Given the description of an element on the screen output the (x, y) to click on. 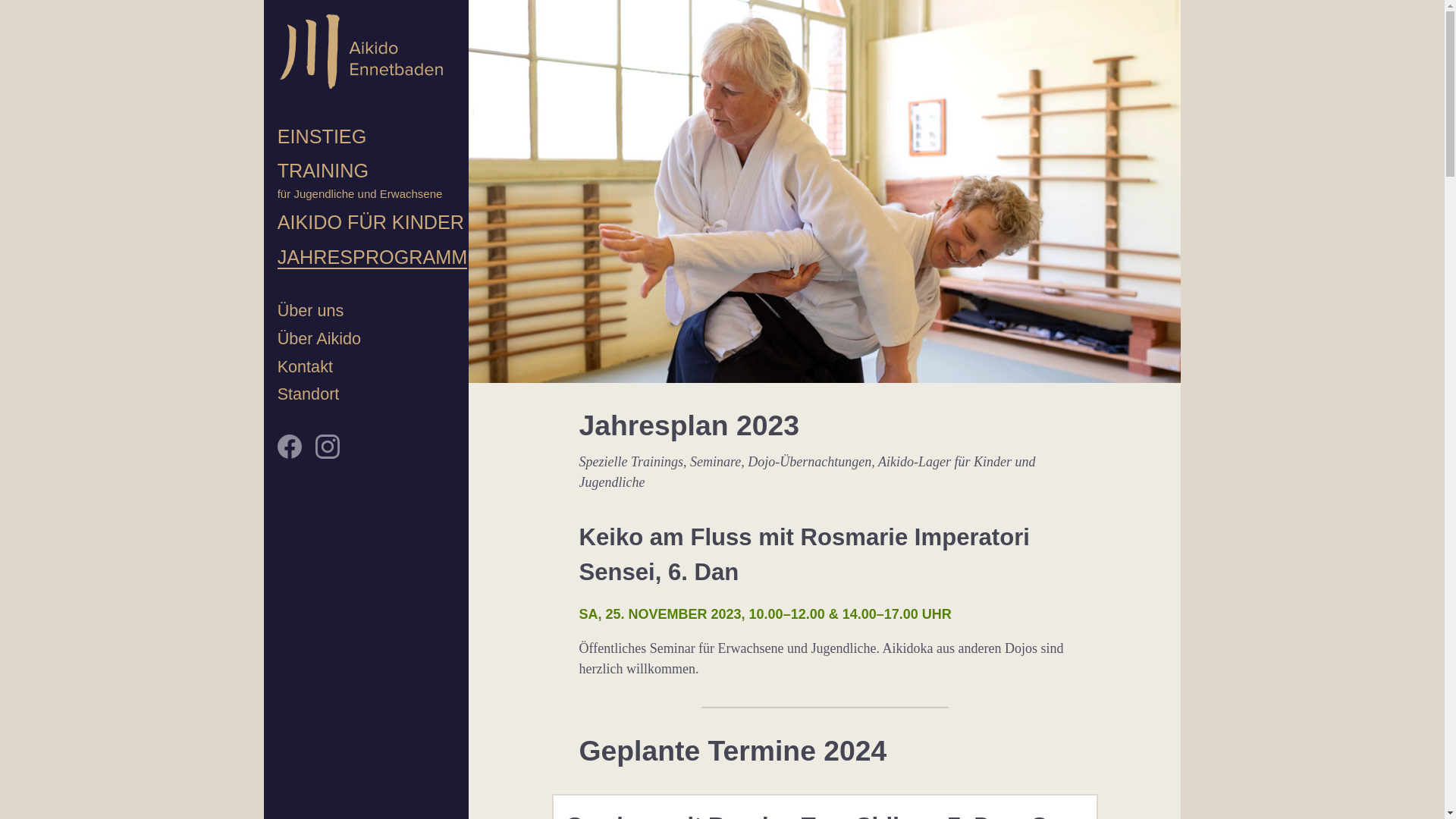
Zur Startseite Element type: hover (360, 54)
Standort Element type: text (308, 394)
EINSTIEG Element type: text (322, 136)
Aikido Ennetbaden auf Facebook Element type: hover (289, 453)
Aikido Ennetbaden auf Instagram Element type: hover (327, 453)
Kontakt Element type: text (304, 366)
JAHRESPROGRAMM Element type: text (372, 257)
